Given the description of an element on the screen output the (x, y) to click on. 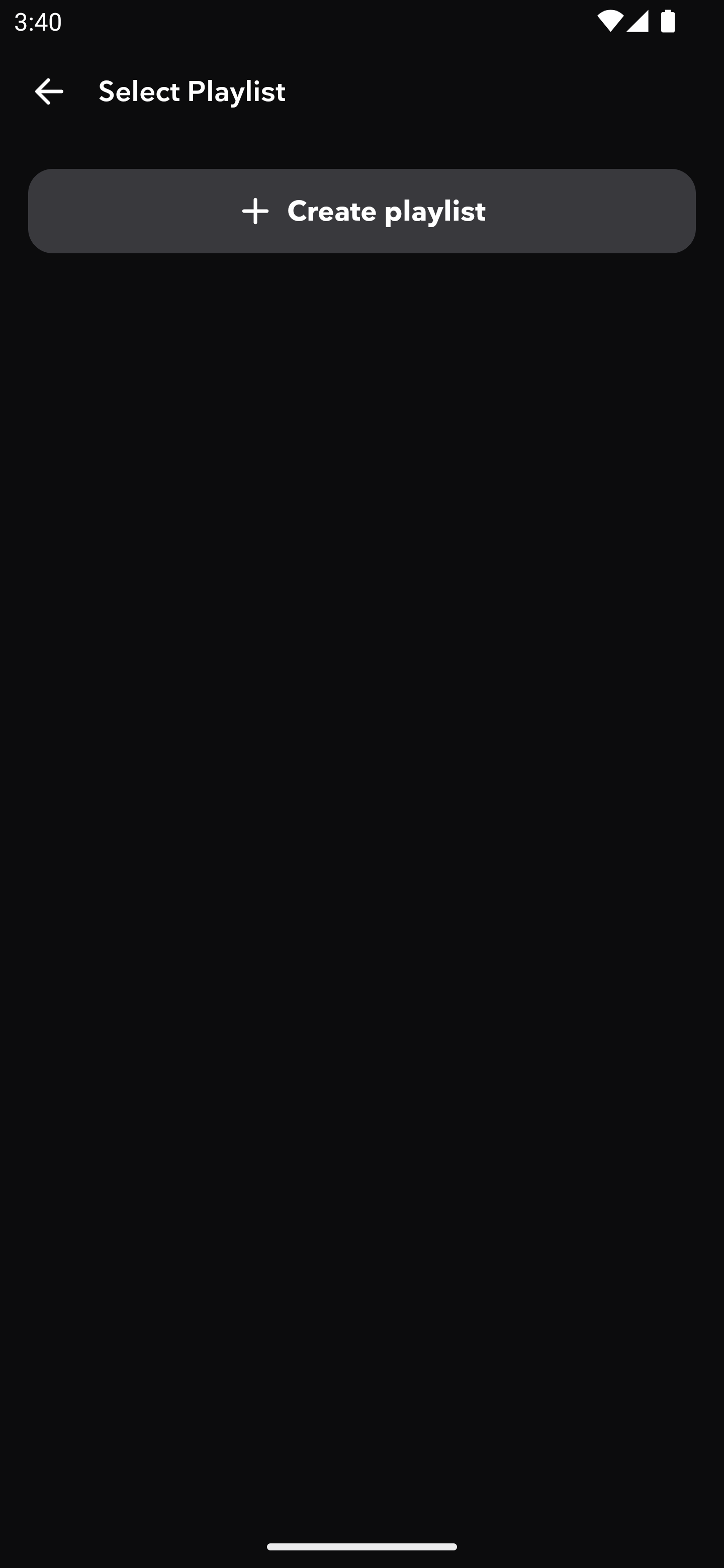
Back (49, 91)
Create playlist (361, 211)
